Given the description of an element on the screen output the (x, y) to click on. 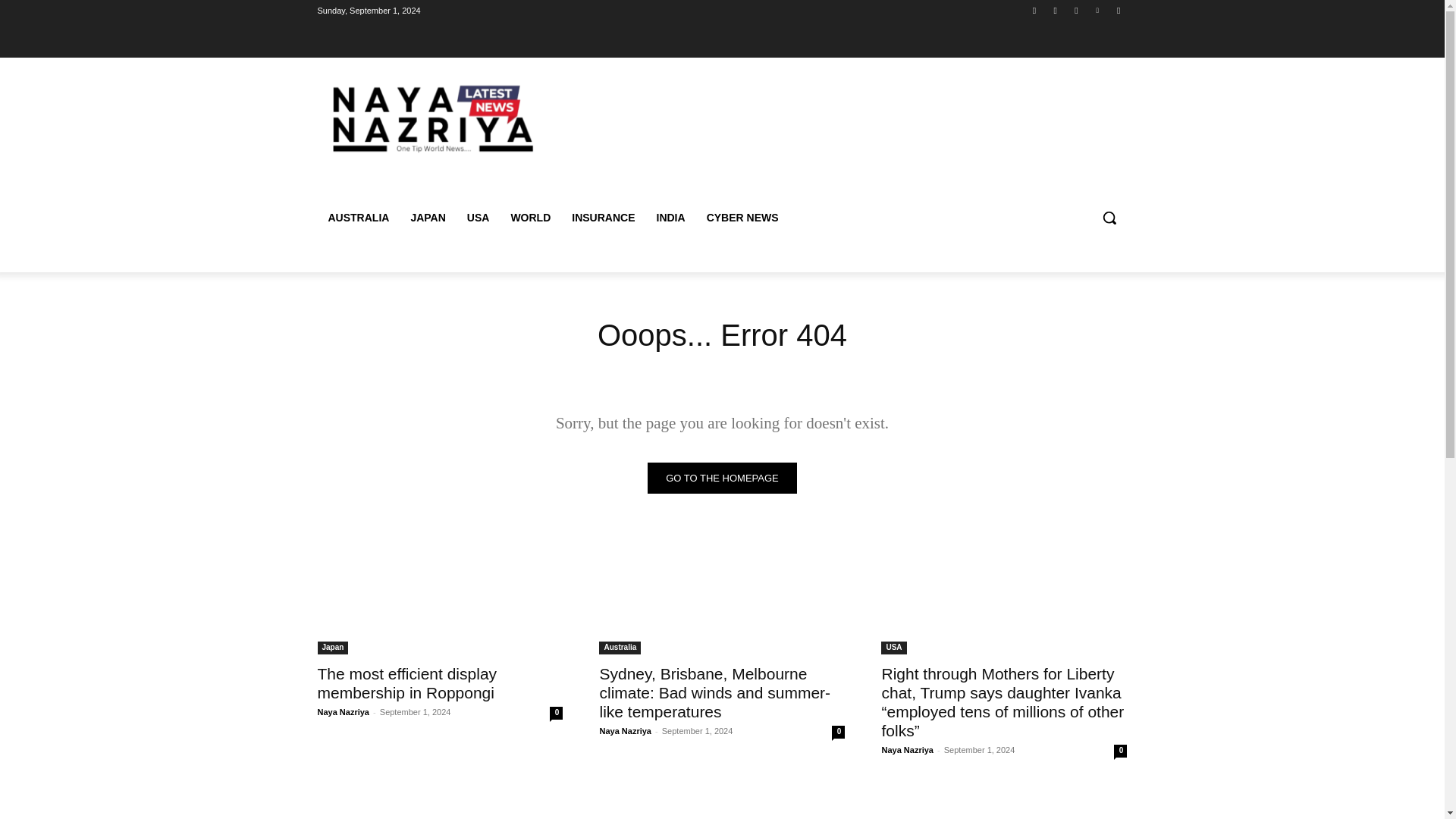
Youtube (1117, 9)
Go to the homepage (721, 477)
Australia (619, 647)
The most efficient display membership in Roppongi (439, 592)
Facebook (1034, 9)
0 (837, 731)
0 (556, 712)
CYBER NEWS (742, 217)
The most efficient display membership in Roppongi (406, 683)
